Given the description of an element on the screen output the (x, y) to click on. 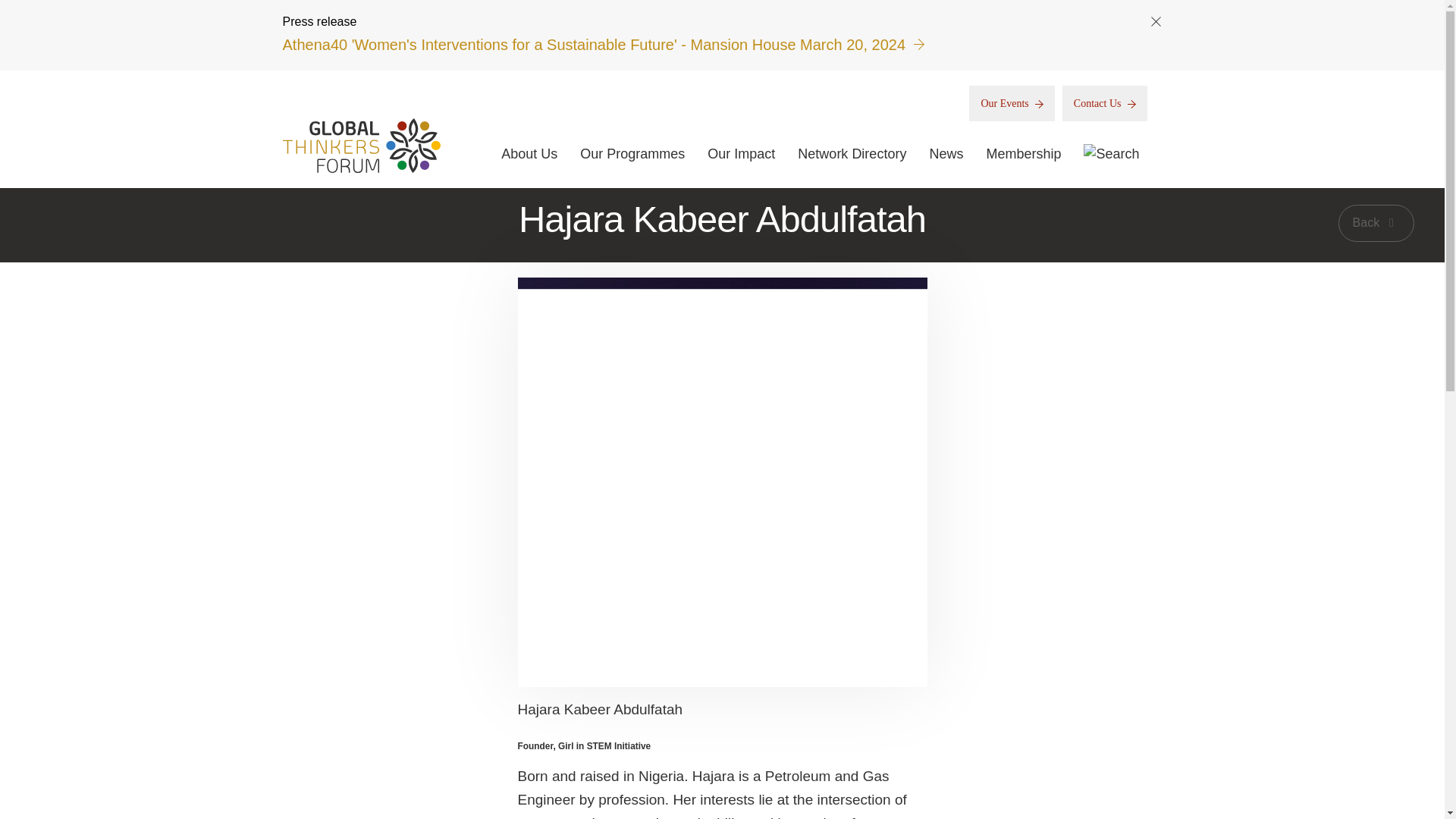
About Us (528, 152)
Membership (1023, 152)
Our Events (1011, 102)
Our Impact (740, 152)
Back (1375, 222)
Contact Us (1104, 102)
News (945, 152)
Network Directory (851, 152)
Our Programmes (631, 152)
